Given the description of an element on the screen output the (x, y) to click on. 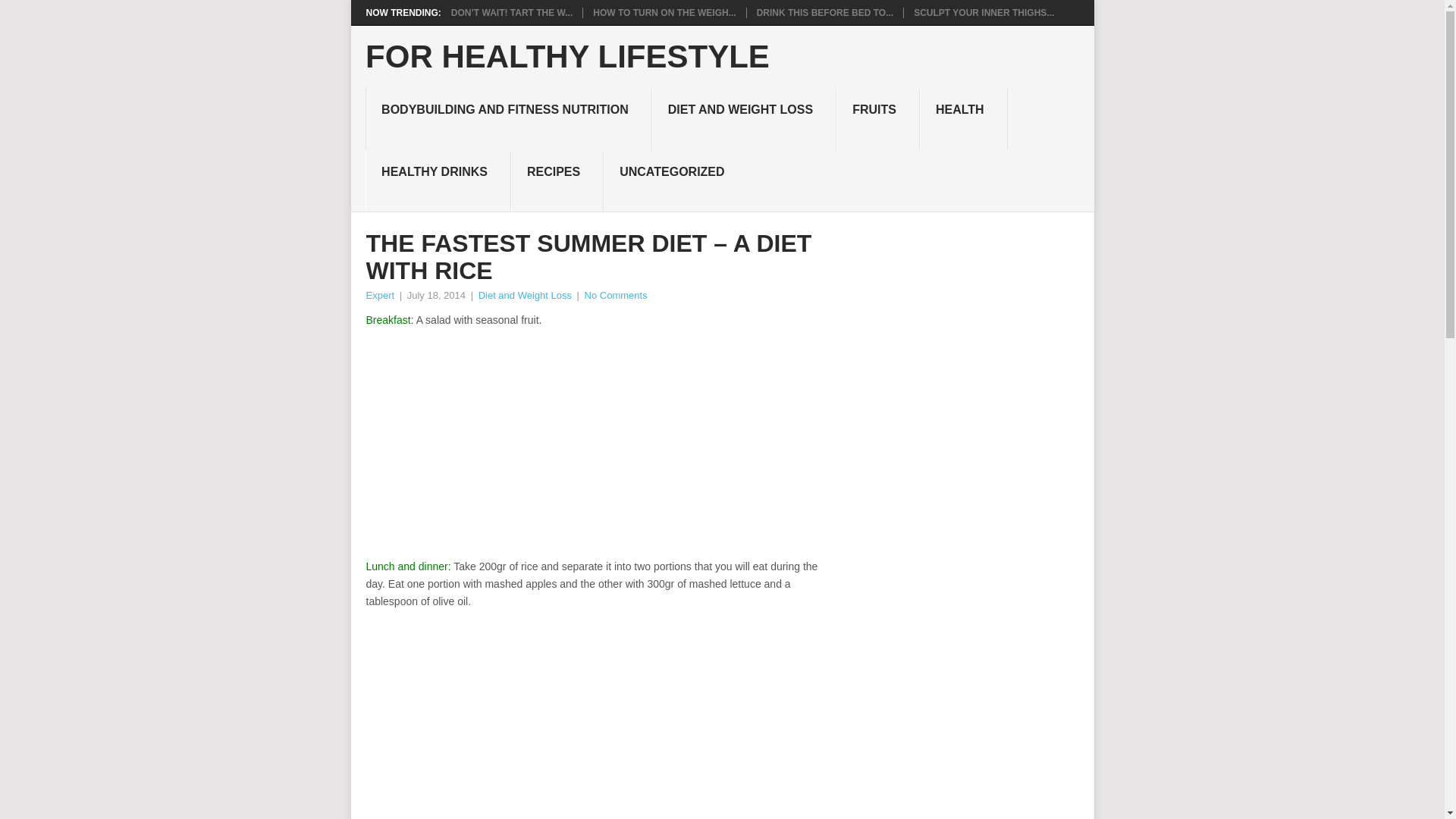
HEALTHY DRINKS (438, 180)
RECIPES (557, 180)
Posts by Expert (379, 295)
No Comments (616, 295)
HEALTH (963, 118)
SCULPT YOUR INNER THIGHS... (984, 12)
Diet and Weight Loss (525, 295)
DRINK THIS BEFORE BED TO... (825, 12)
Sculpt Your Inner Thighs Fast: 6 Must-Do Exercises (984, 12)
Advertisement (602, 719)
